Given the description of an element on the screen output the (x, y) to click on. 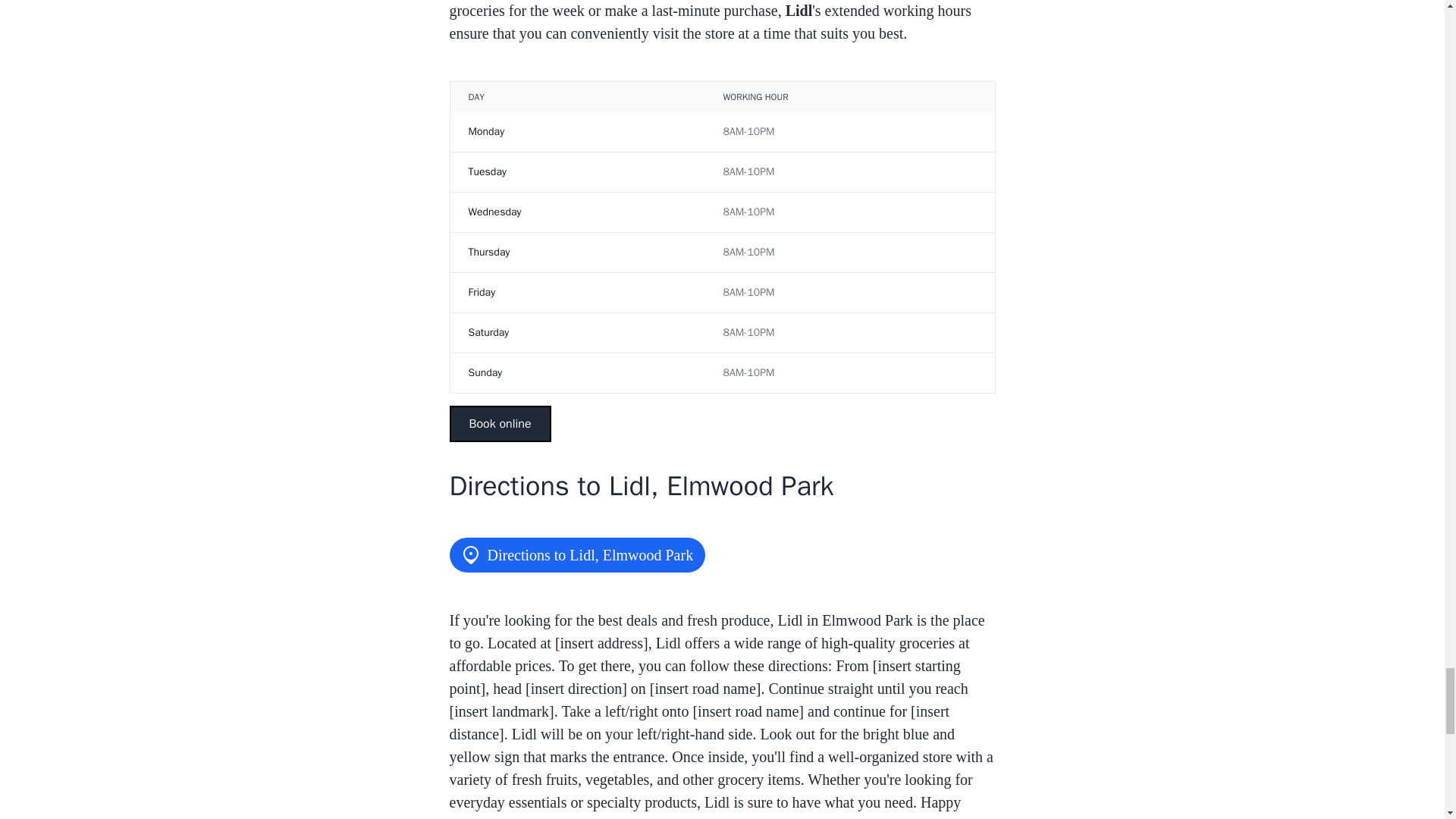
Book online (499, 423)
  Directions to Lidl, Elmwood Park (576, 554)
